Given the description of an element on the screen output the (x, y) to click on. 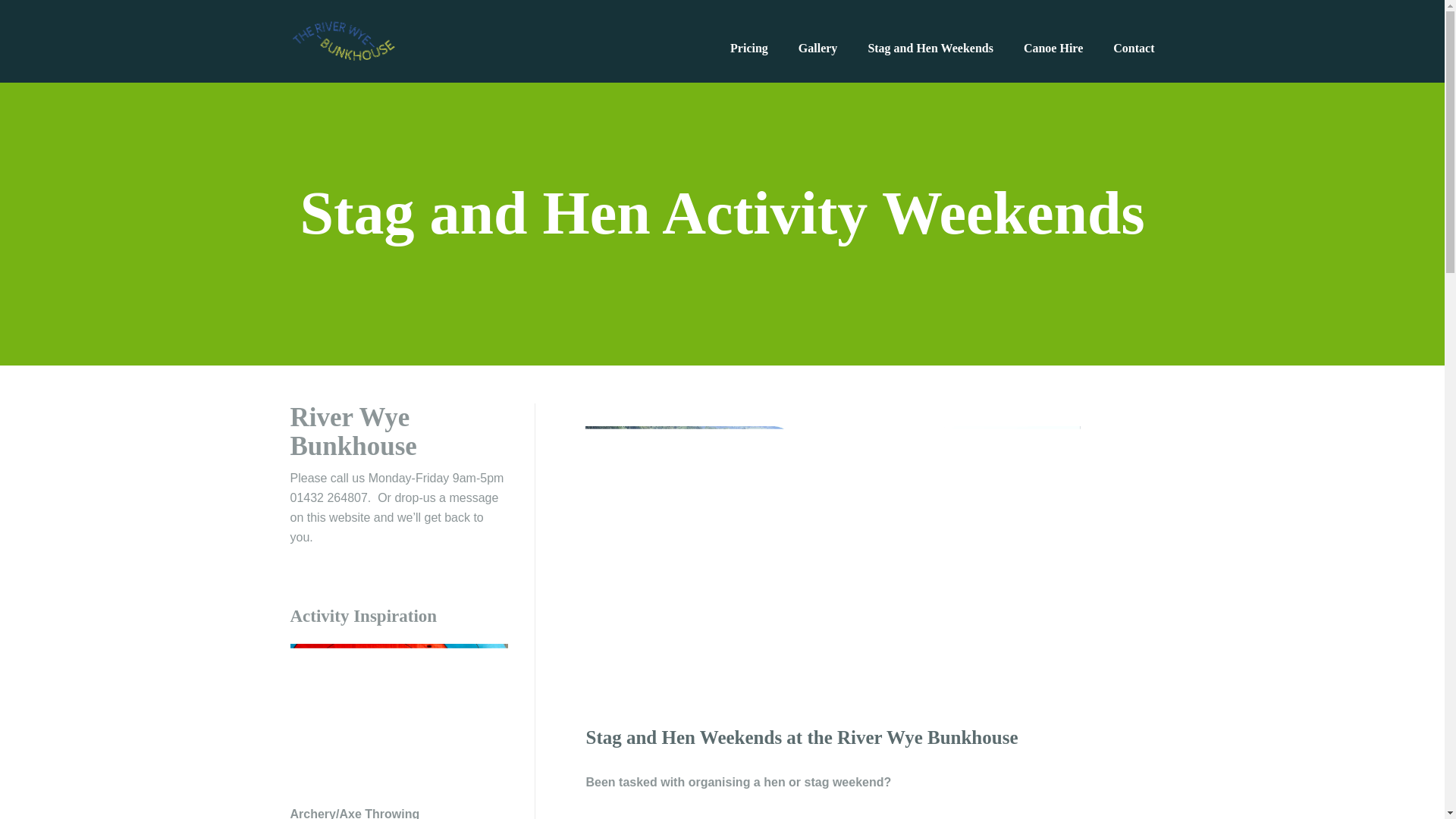
Contact (1133, 47)
Stag and Hen Weekends (929, 47)
Canoe Hire (1053, 47)
River Wye Bunkhouse (342, 40)
Gallery (817, 47)
Pricing (749, 47)
